Given the description of an element on the screen output the (x, y) to click on. 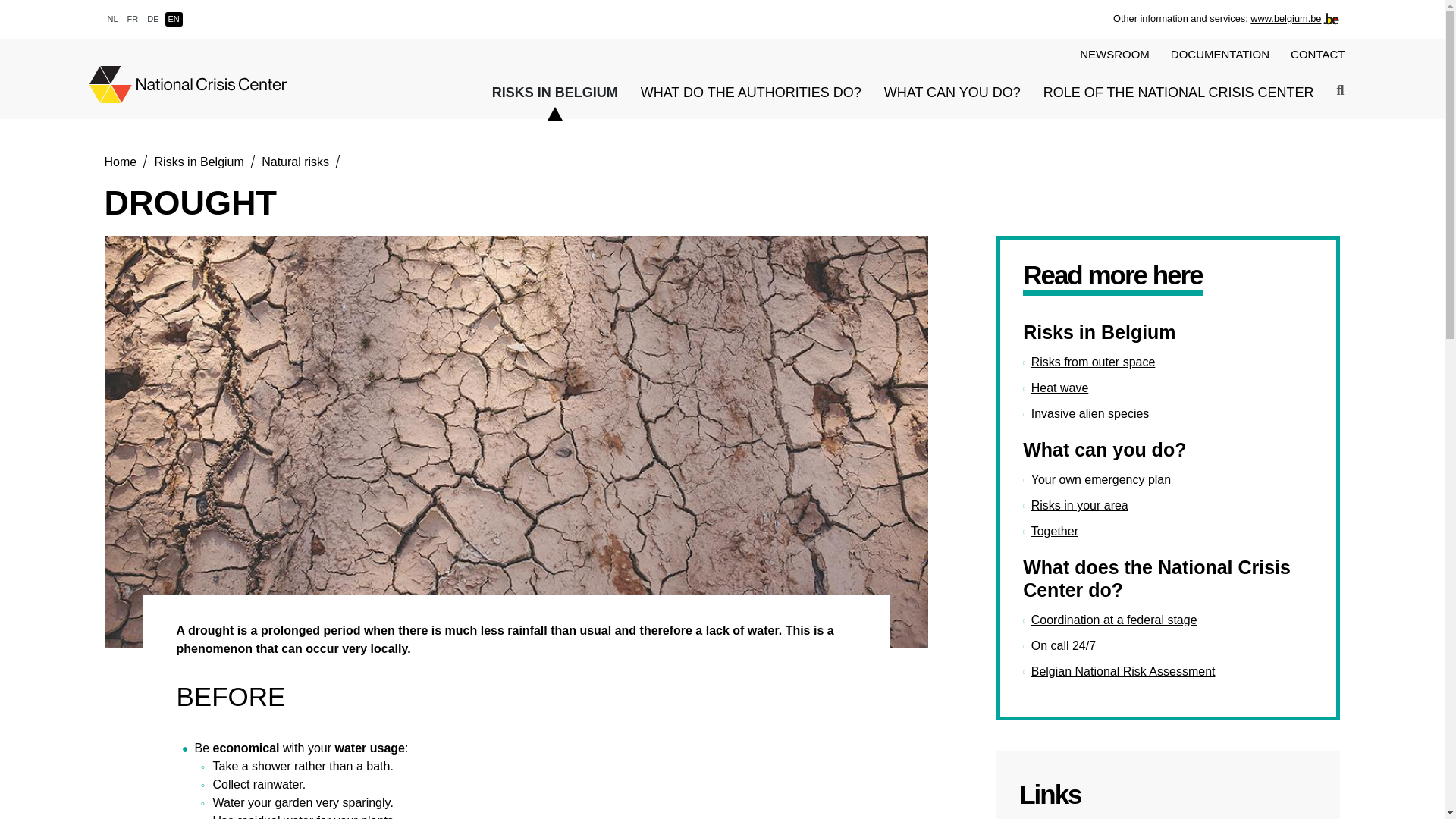
DE (152, 18)
Your own emergency plan (1096, 479)
Natural risks (295, 161)
ROLE OF THE NATIONAL CRISIS CENTER (1178, 93)
Coordination at a federal stage (1109, 619)
FR (132, 19)
Back to the home page (187, 84)
NEWSROOM (1114, 55)
DOCUMENTATION (1219, 55)
Risks in Belgium (199, 161)
